Given the description of an element on the screen output the (x, y) to click on. 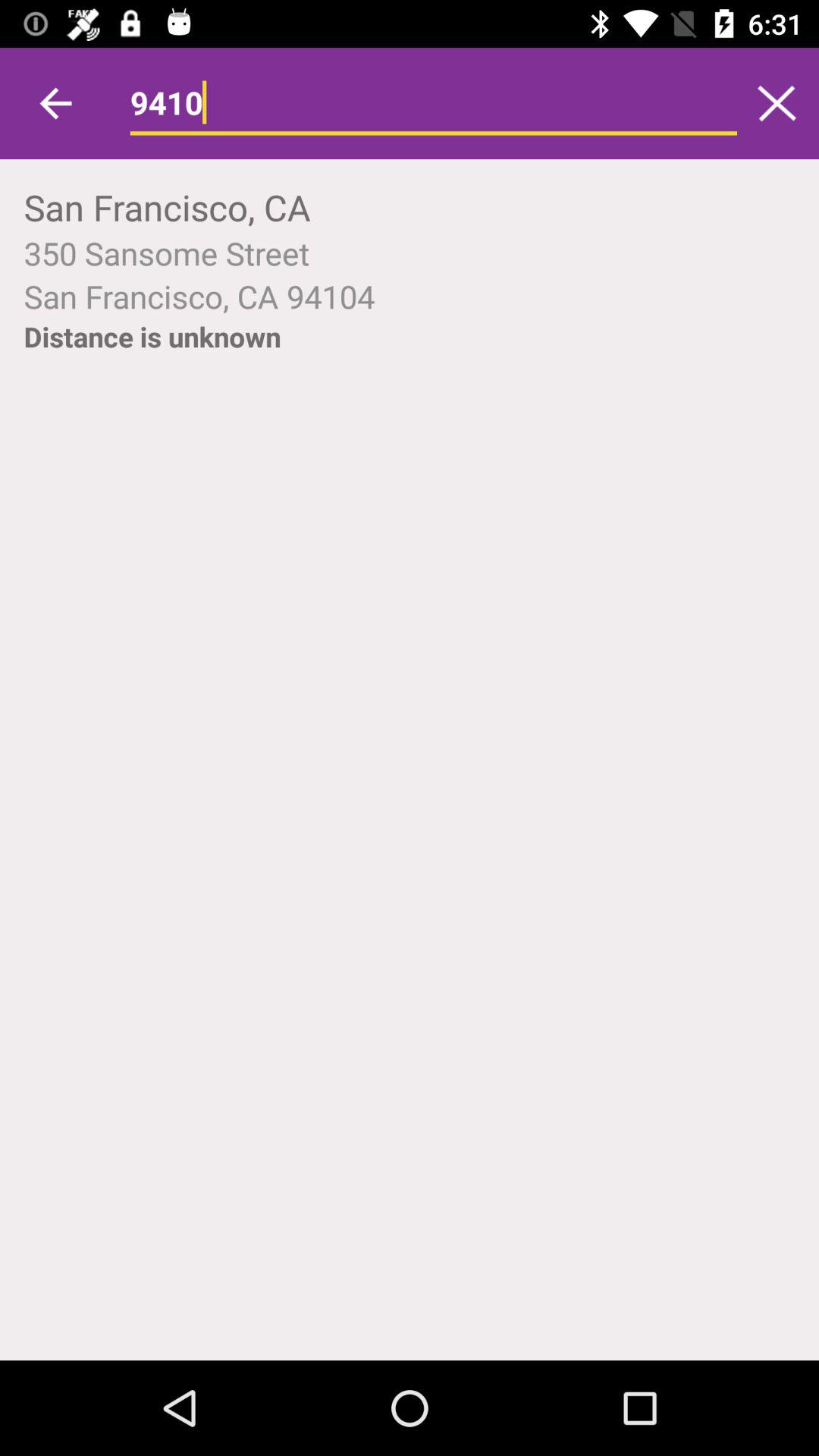
open item below the san francisco ca item (151, 336)
